Given the description of an element on the screen output the (x, y) to click on. 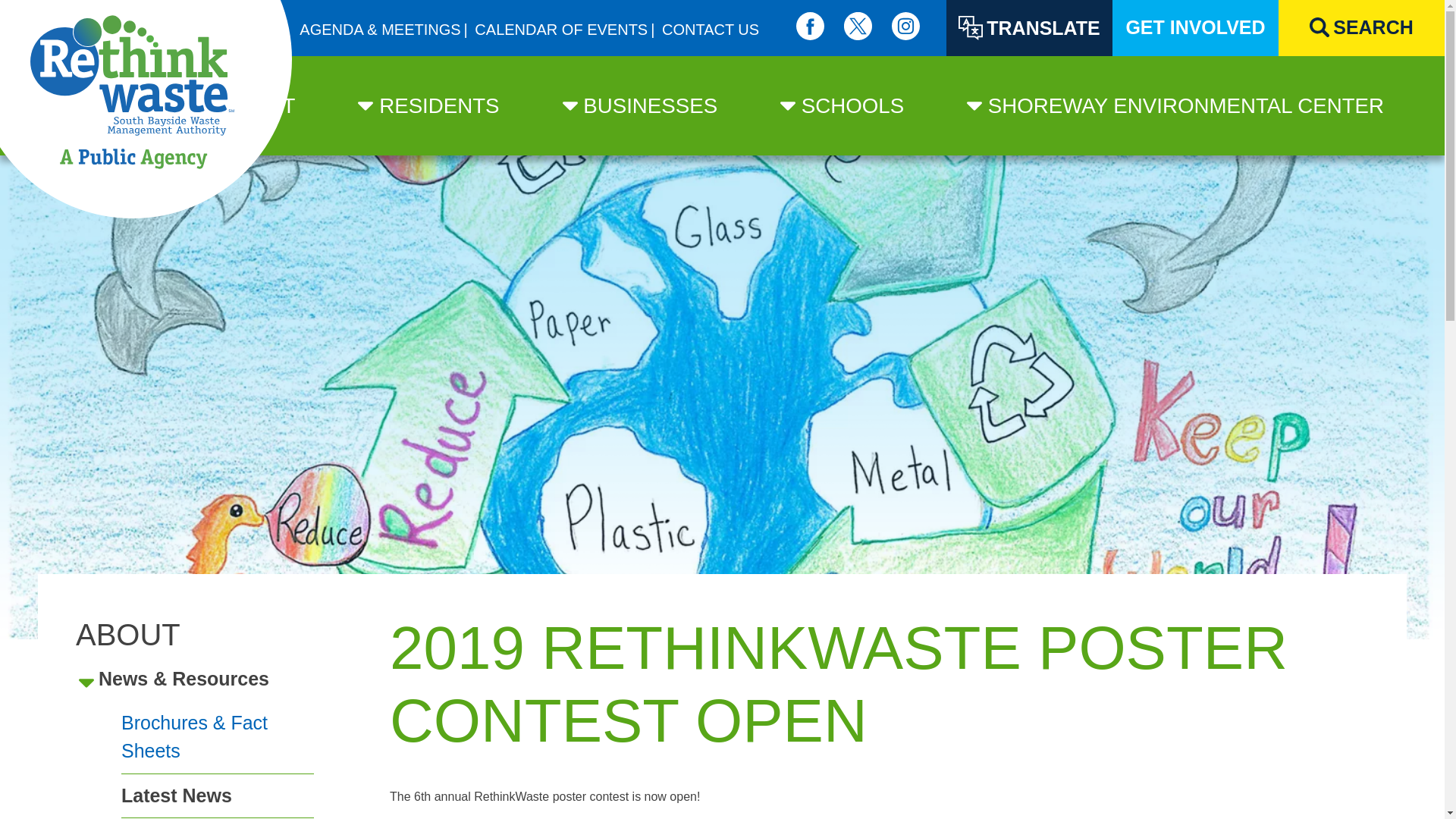
RethinkWaste (145, 109)
INSTAGRAM (905, 26)
GET INVOLVED (1195, 28)
CALENDAR OF EVENTS (560, 29)
TRANSLATE (1029, 28)
CONTACT US (710, 29)
